Given the description of an element on the screen output the (x, y) to click on. 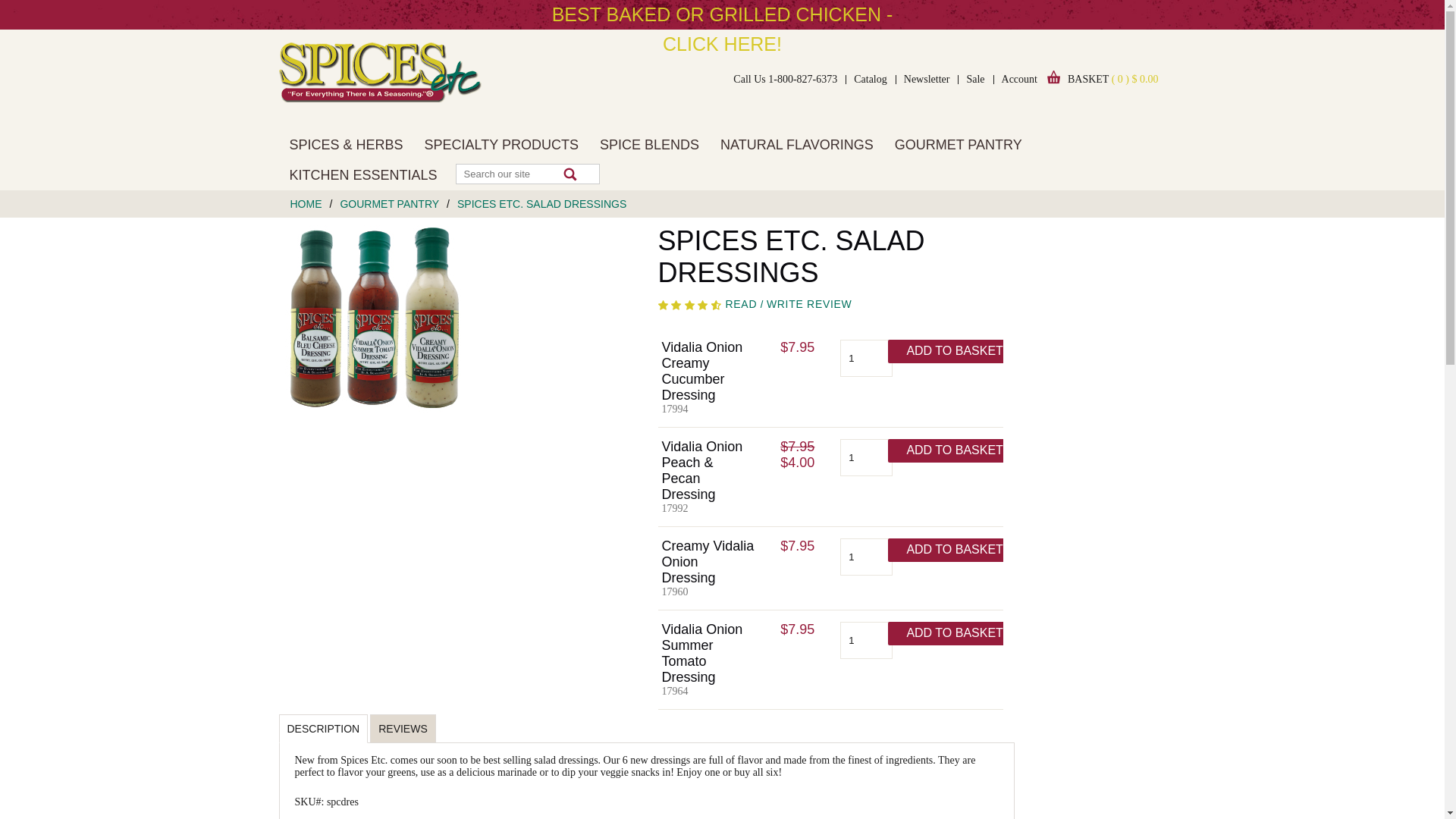
1 (866, 556)
SPICE BLENDS (649, 144)
ADD TO BASKET (954, 633)
1 (866, 640)
ADD TO BASKET (954, 351)
Sale (974, 79)
BEST BAKED OR GRILLED CHICKEN - CLICK HERE! (722, 29)
ADD TO BASKET (954, 450)
Newsletter (926, 79)
1 (866, 357)
ADD TO BASKET (954, 549)
Catalog (870, 79)
NATURAL FLAVORINGS (796, 144)
1 (866, 456)
SPECIALTY PRODUCTS (501, 144)
